Given the description of an element on the screen output the (x, y) to click on. 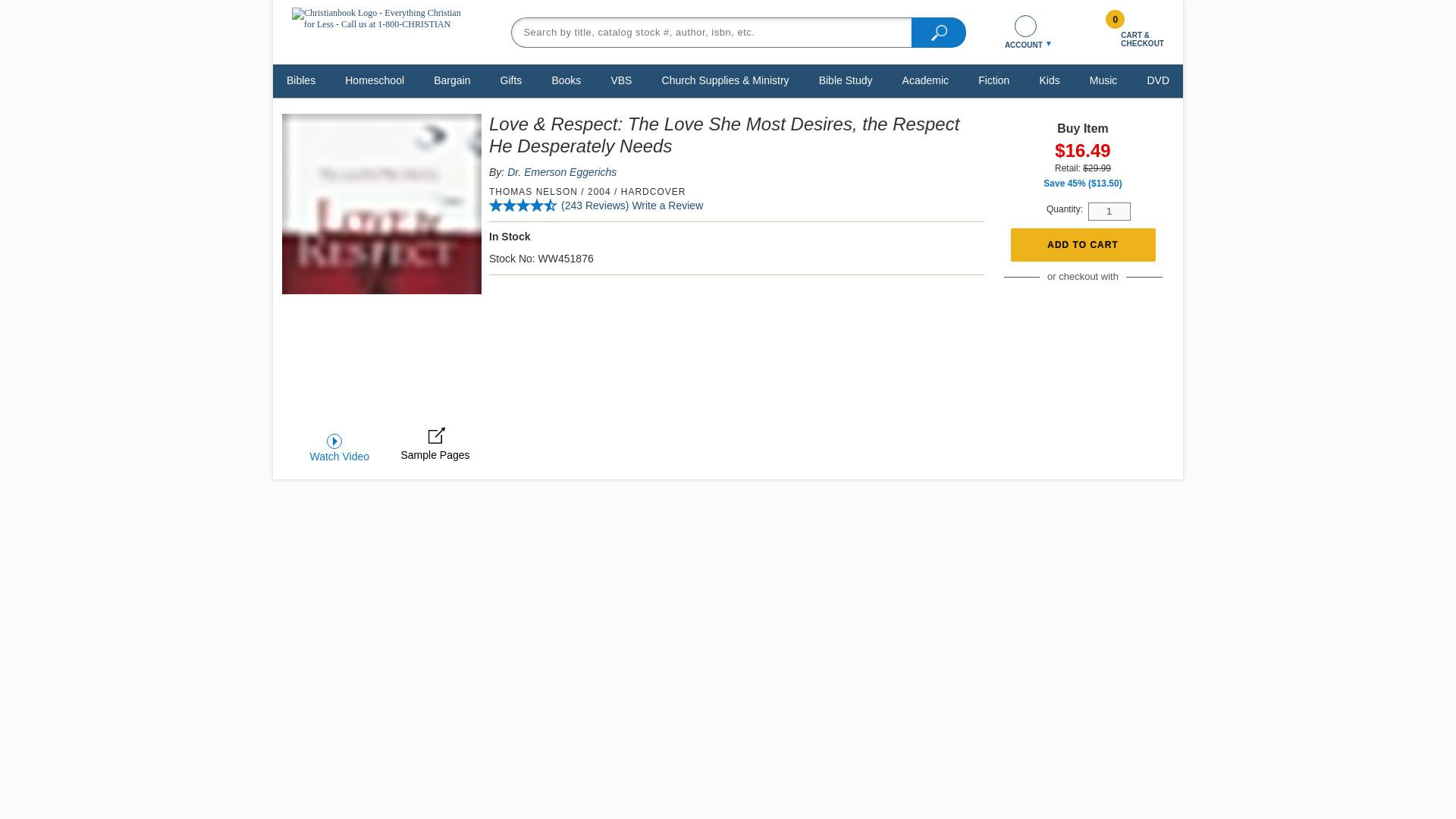
Academic (924, 79)
Bargain (452, 79)
Place in Bookbag (1082, 245)
1 (1109, 211)
Fiction (993, 79)
Books (566, 79)
DVD (1157, 79)
ACCOUNT (1025, 32)
Homeschool (374, 79)
Gifts (511, 79)
Write a Review (667, 205)
Kids (1048, 79)
SEARCH (938, 31)
VBS (621, 79)
Bible Study (845, 79)
